Given the description of an element on the screen output the (x, y) to click on. 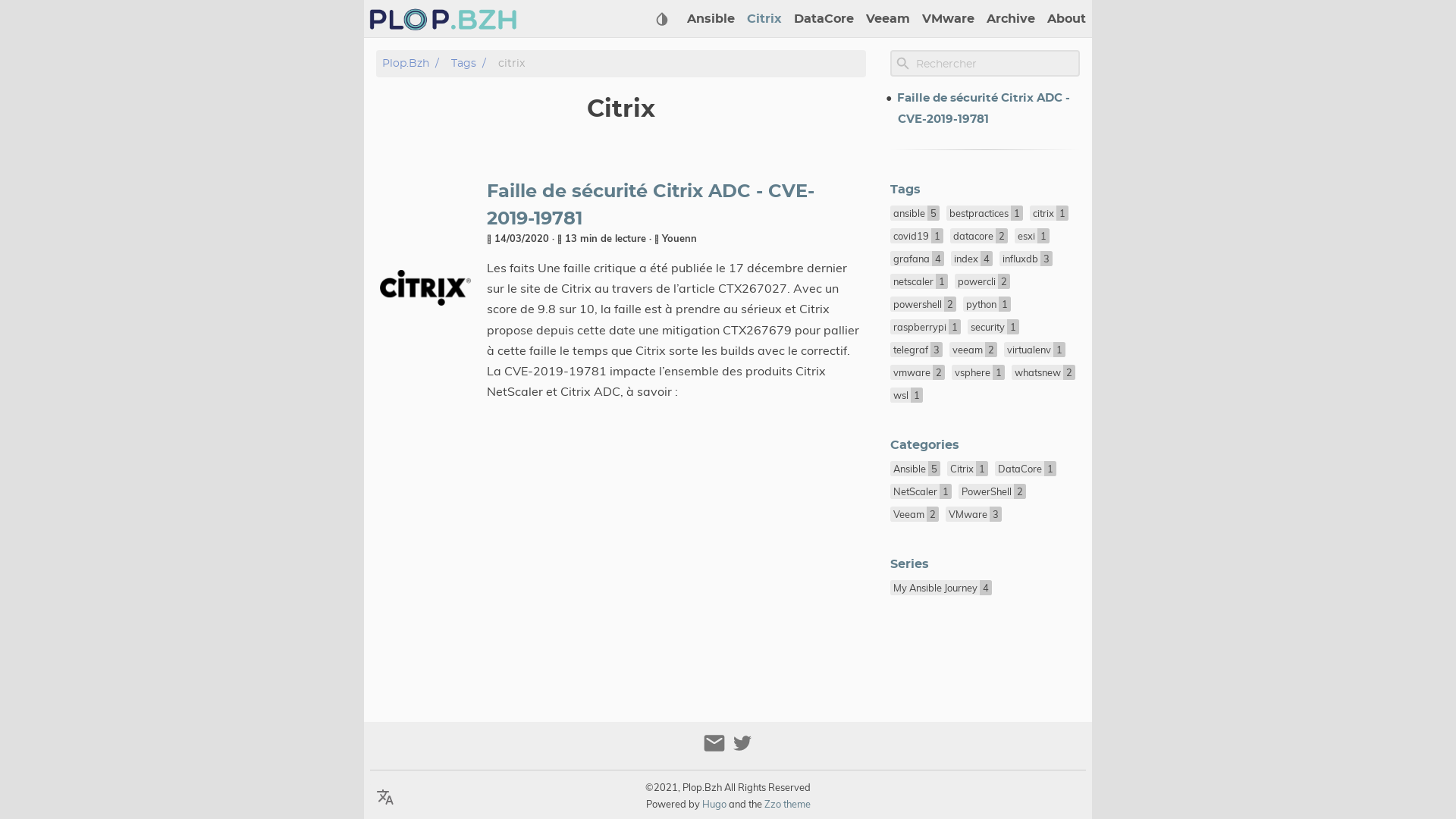
citrix 1 Element type: text (1048, 212)
Tags Element type: text (905, 189)
covid19 1 Element type: text (916, 235)
ansible 5 Element type: text (914, 212)
python 1 Element type: text (986, 303)
Tags Element type: text (463, 63)
VMware Element type: text (948, 18)
PowerShell 2 Element type: text (992, 490)
Ansible Element type: text (710, 18)
security 1 Element type: text (993, 326)
Citrix Element type: text (763, 18)
DataCore Element type: text (823, 18)
Veeam Element type: text (887, 18)
influxdb 3 Element type: text (1025, 258)
twitter Element type: hover (741, 749)
virtualenv 1 Element type: text (1034, 349)
whatsnew 2 Element type: text (1043, 371)
Zzo theme Element type: text (787, 803)
index 4 Element type: text (971, 258)
datacore 2 Element type: text (978, 235)
vmware 2 Element type: text (917, 371)
DataCore 1 Element type: text (1025, 468)
telegraf 3 Element type: text (916, 349)
wsl 1 Element type: text (906, 394)
Veeam 2 Element type: text (914, 513)
Citrix 1 Element type: text (967, 468)
Archive Element type: text (1010, 18)
My Ansible Journey 4 Element type: text (940, 587)
powershell 2 Element type: text (923, 303)
vsphere 1 Element type: text (977, 371)
VMware 3 Element type: text (973, 513)
bestpractices 1 Element type: text (984, 212)
netscaler 1 Element type: text (918, 280)
Series Element type: text (909, 564)
About Element type: text (1066, 18)
email Element type: hover (716, 749)
NetScaler 1 Element type: text (920, 490)
esxi 1 Element type: text (1031, 235)
raspberrypi 1 Element type: text (925, 326)
Ansible 5 Element type: text (915, 468)
powercli 2 Element type: text (982, 280)
Plop.Bzh Element type: text (405, 63)
Hugo Element type: text (714, 803)
Categories Element type: text (924, 445)
grafana 4 Element type: text (917, 258)
Accueil Element type: hover (443, 18)
veeam 2 Element type: text (973, 349)
